Given the description of an element on the screen output the (x, y) to click on. 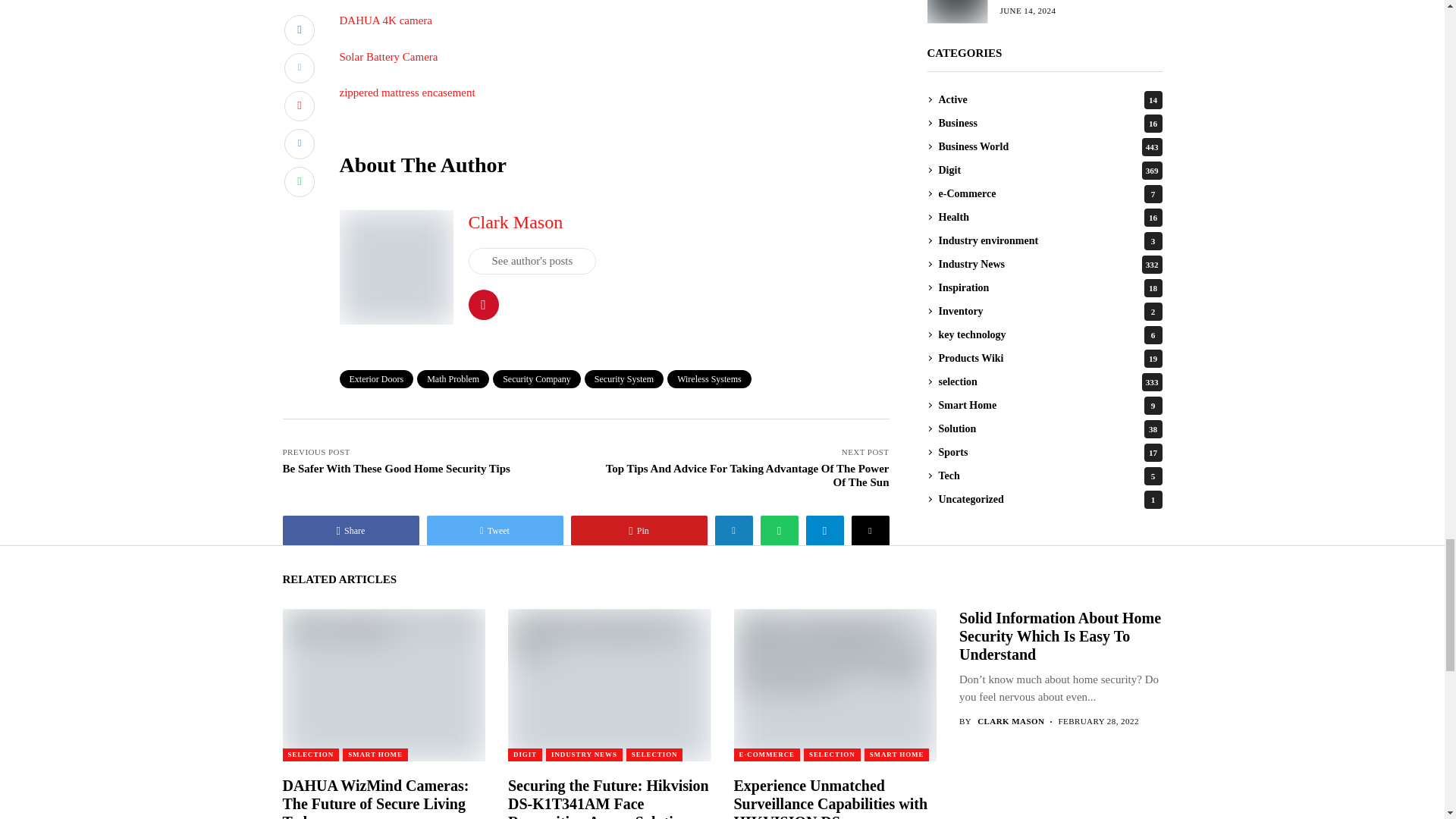
DAHUA WizMind Cameras: The Future of Secure Living Today (382, 684)
DAHUA 4K camera (385, 20)
